Given the description of an element on the screen output the (x, y) to click on. 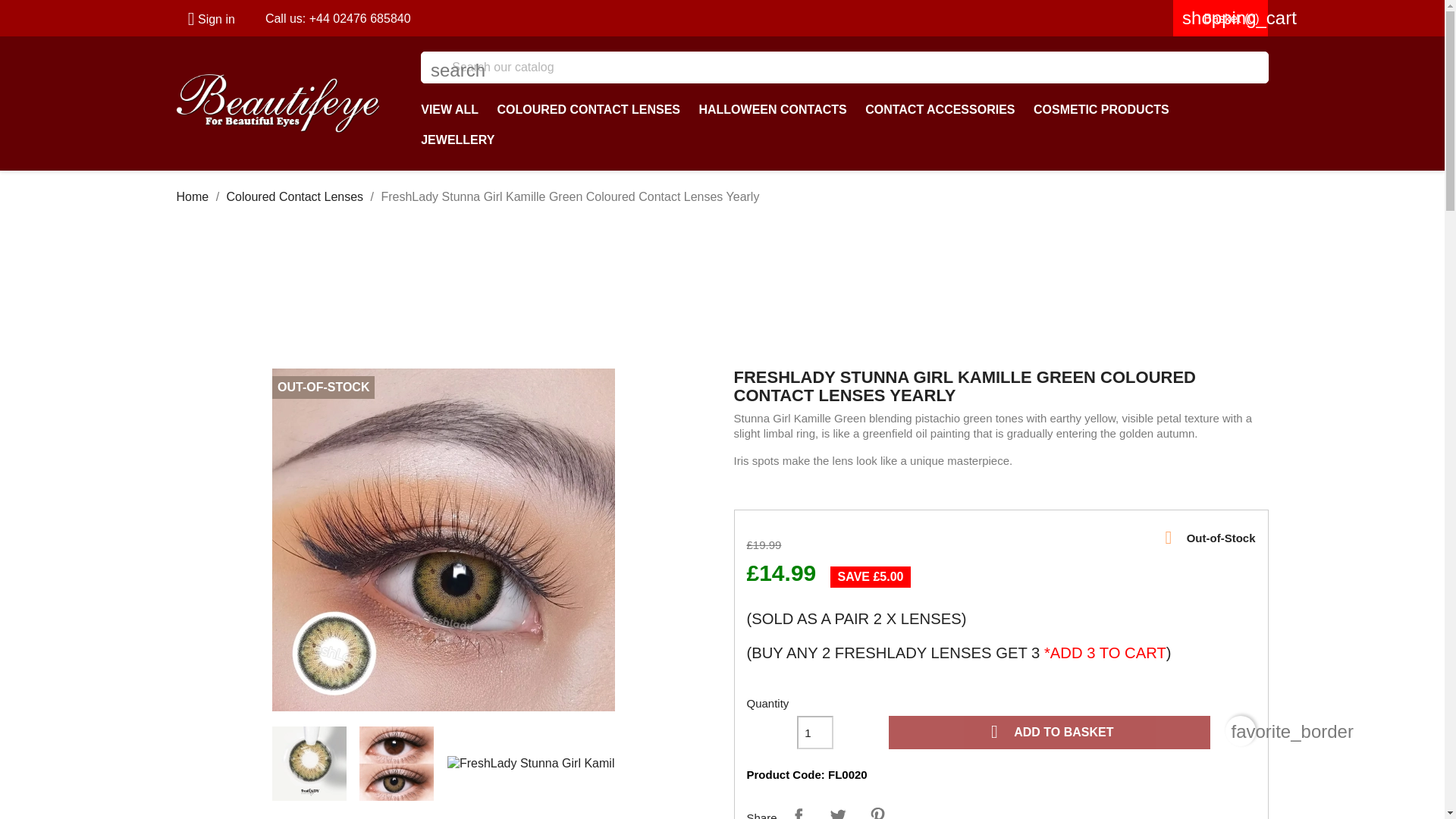
Share (798, 809)
Pinterest (876, 809)
Tweet (837, 809)
HALLOWEEN CONTACTS (771, 110)
VIEW ALL (449, 110)
1 (814, 732)
COLOURED CONTACT LENSES (588, 110)
Log in to your customer account (205, 19)
